Given the description of an element on the screen output the (x, y) to click on. 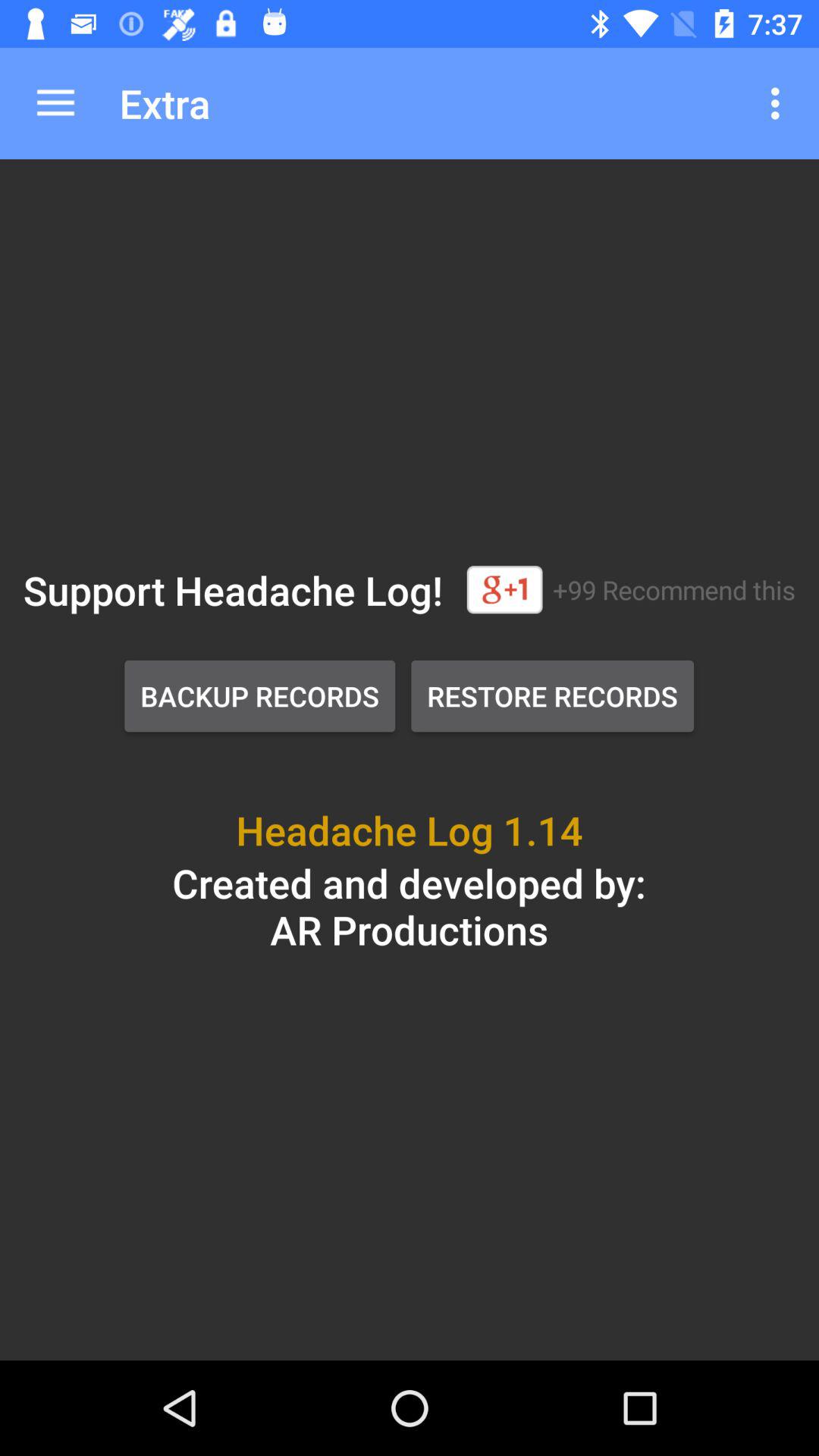
open app below support headache log! item (259, 695)
